Given the description of an element on the screen output the (x, y) to click on. 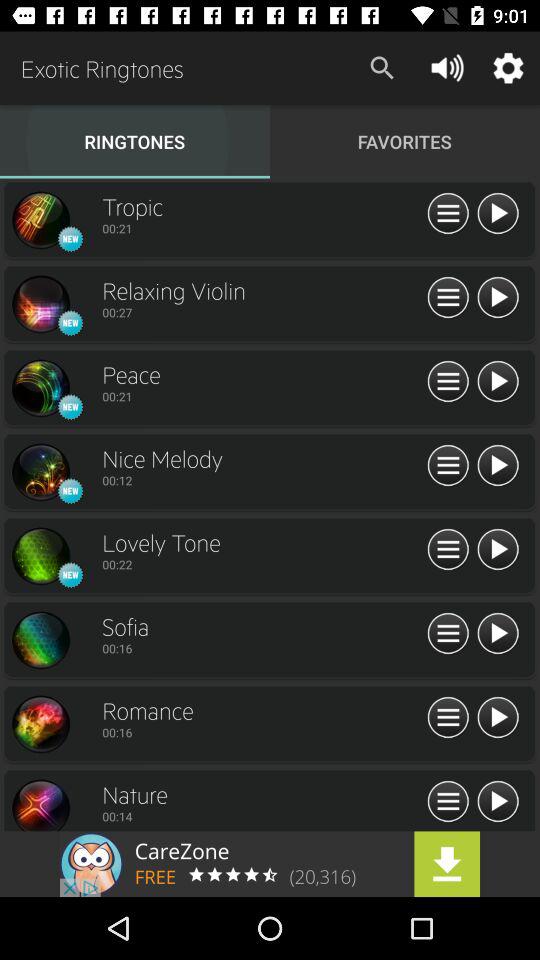
play (497, 801)
